Given the description of an element on the screen output the (x, y) to click on. 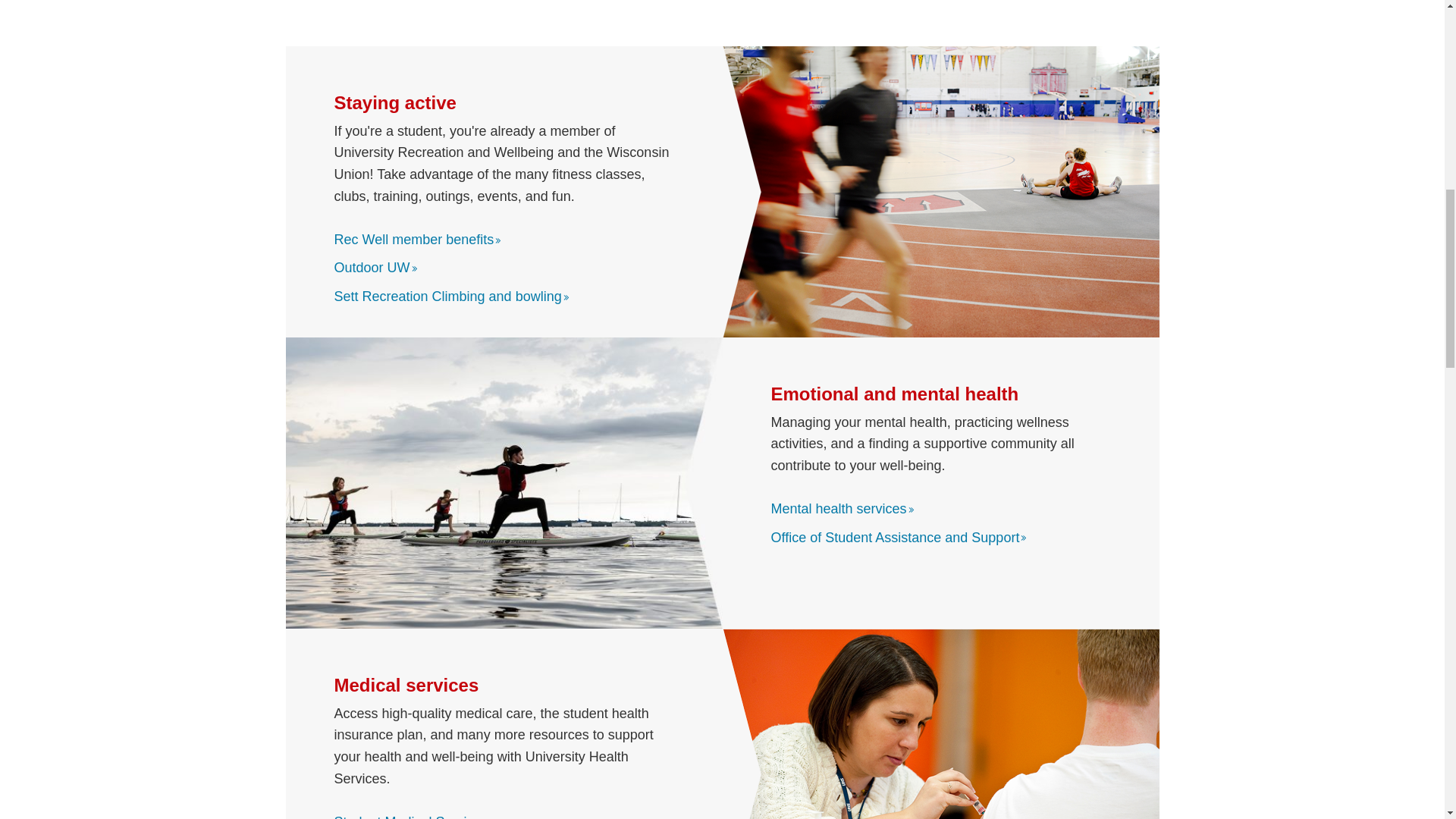
Office of Student Assistance and Support More (898, 537)
More (414, 267)
Outdoor UW More (376, 267)
Student Medical Services More (414, 816)
Sett Recreation Climbing and bowling More (451, 296)
More (1023, 537)
Rec Well member benefits More (417, 239)
More (566, 297)
More (497, 239)
Mental health services More (842, 508)
